Given the description of an element on the screen output the (x, y) to click on. 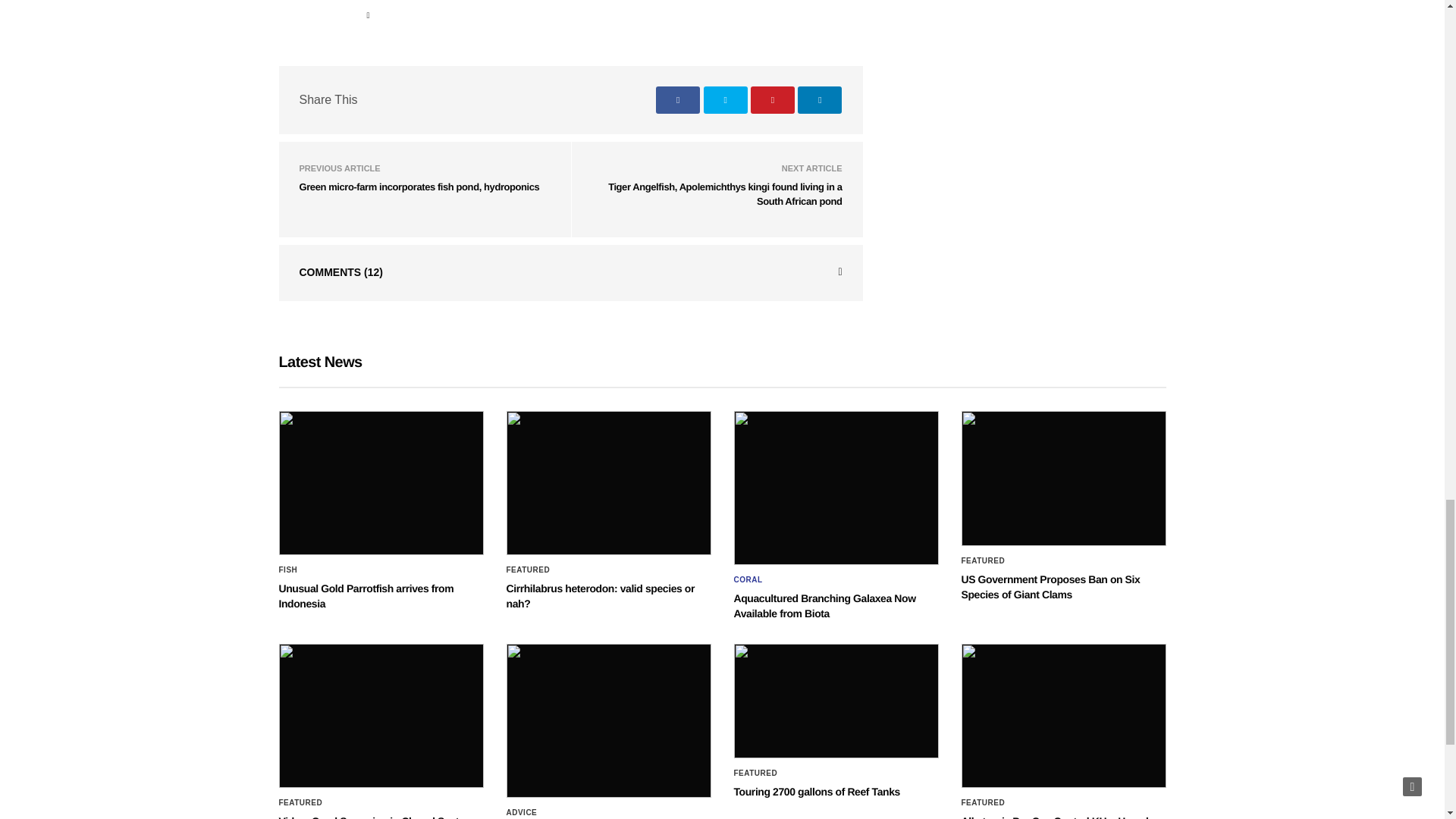
Green micro-farm incorporates fish pond, hydroponics (418, 186)
Unusual Gold Parrotfish arrives from Indonesia (381, 483)
